Given the description of an element on the screen output the (x, y) to click on. 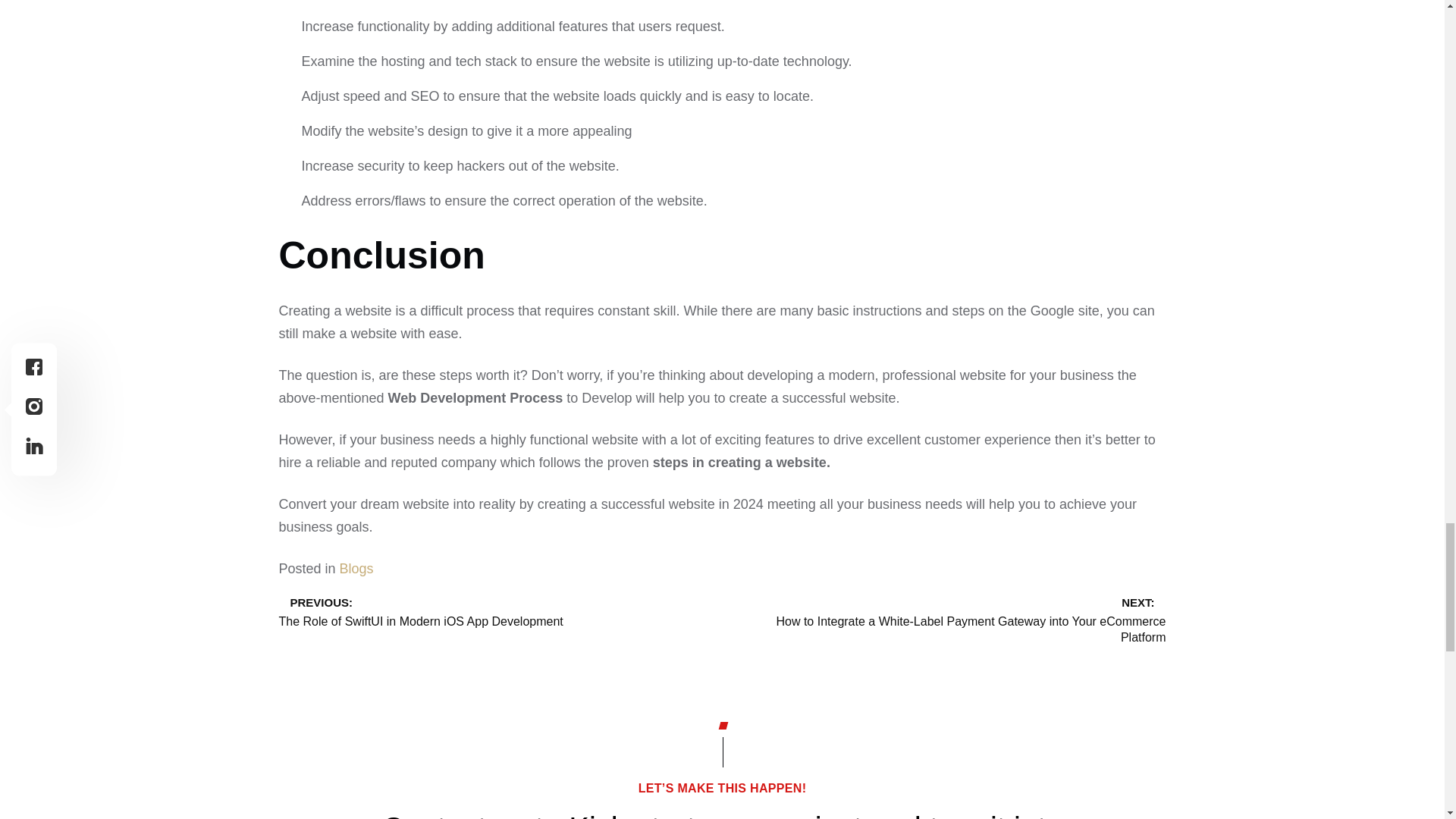
Blogs (495, 610)
